Given the description of an element on the screen output the (x, y) to click on. 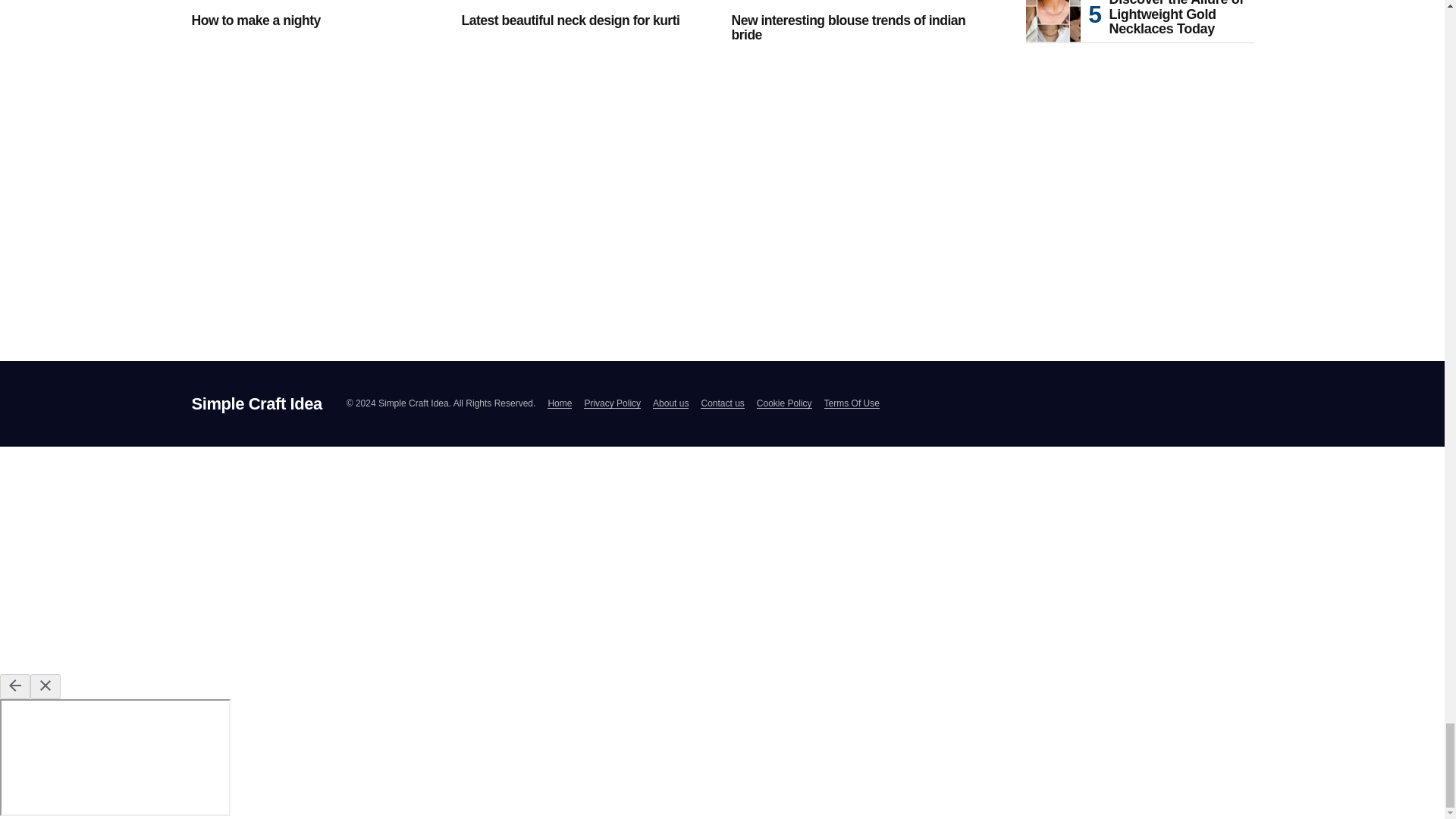
How to make a nighty (316, 2)
New interesting blouse trends of indian bride (856, 2)
Latest beautiful neck design for kurti (587, 2)
